Given the description of an element on the screen output the (x, y) to click on. 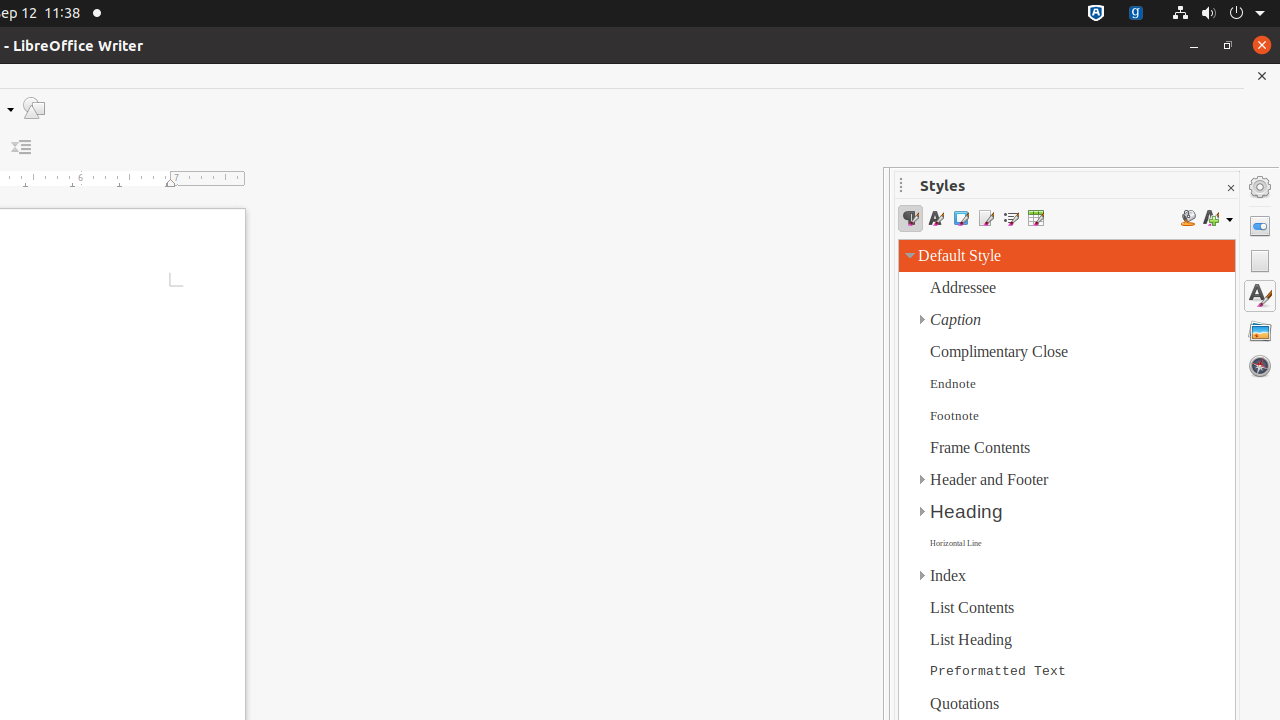
Page Styles Element type: push-button (985, 218)
Character Styles Element type: push-button (935, 218)
Page Element type: radio-button (1260, 261)
Properties Element type: radio-button (1260, 226)
Close Sidebar Deck Element type: push-button (1230, 188)
